Given the description of an element on the screen output the (x, y) to click on. 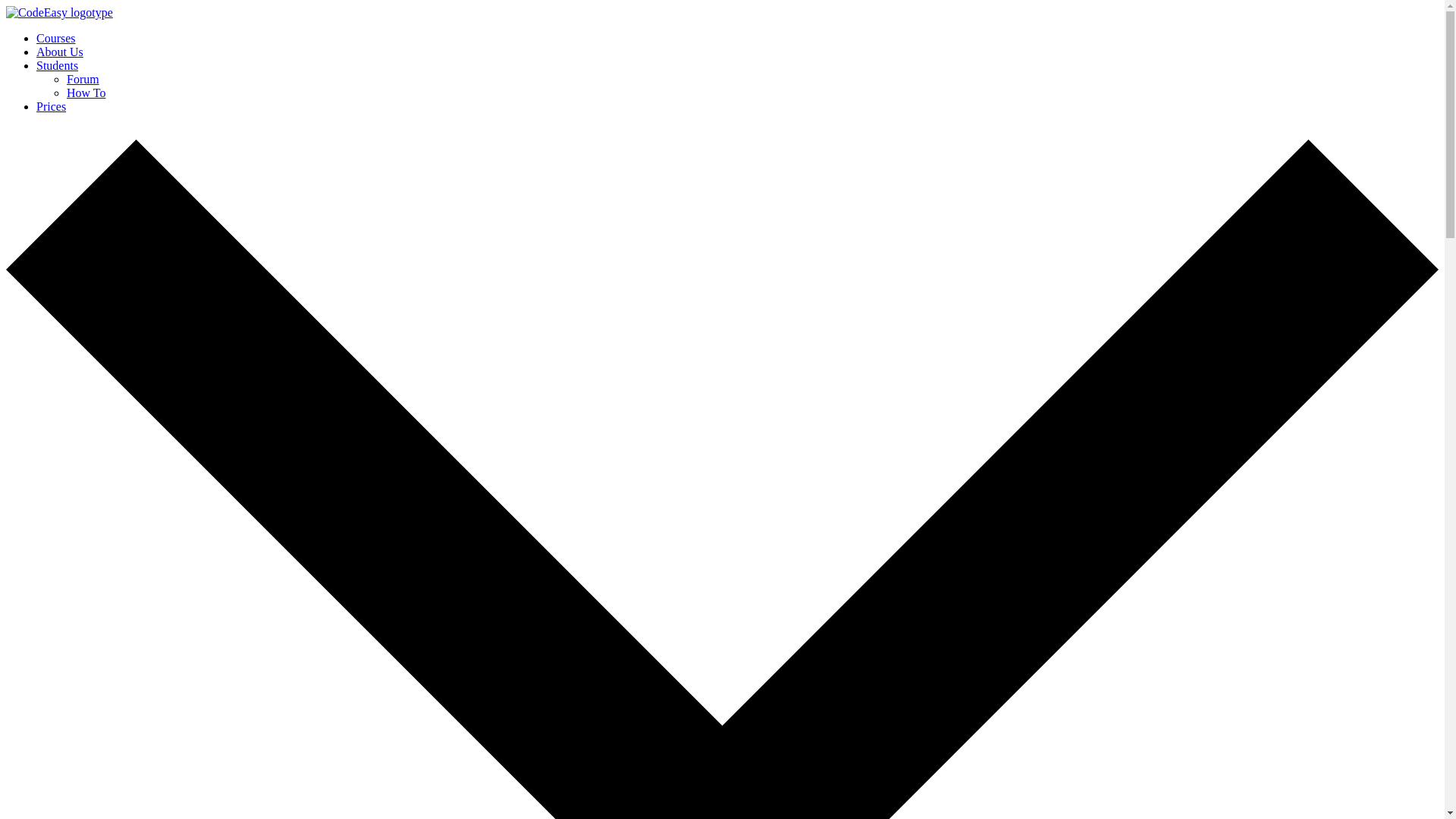
Courses (55, 38)
How To (85, 92)
Prices (50, 106)
Forum (82, 78)
Students (57, 65)
About Us (59, 51)
